Given the description of an element on the screen output the (x, y) to click on. 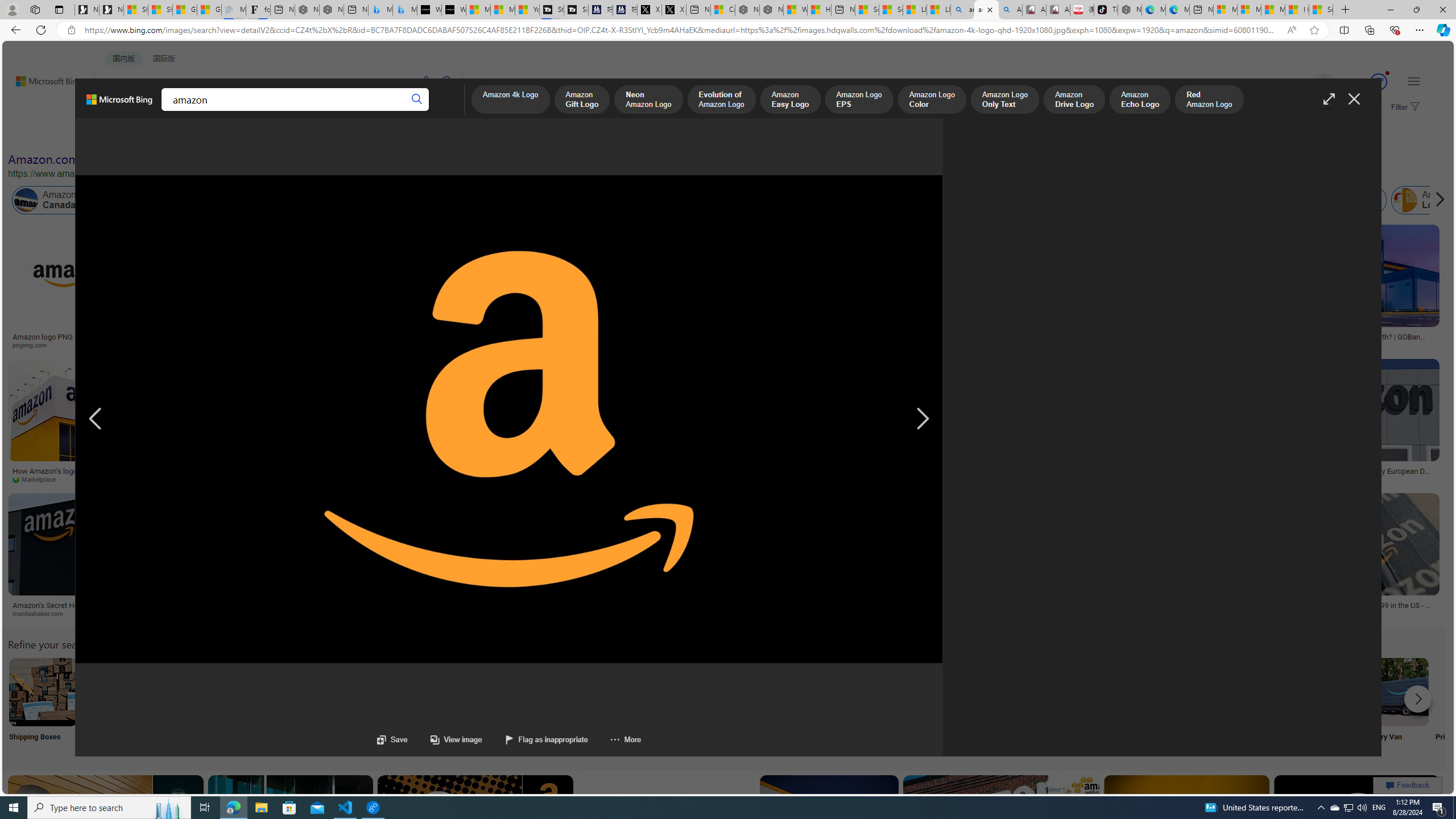
Amazon App Store Download App Store Download (1319, 706)
Listen: What's next for Amazon?usatoday.comSave (373, 289)
Amazon Forest (1023, 199)
Save (392, 739)
pngimg.com (70, 344)
agilitypr.com (651, 613)
